Given the description of an element on the screen output the (x, y) to click on. 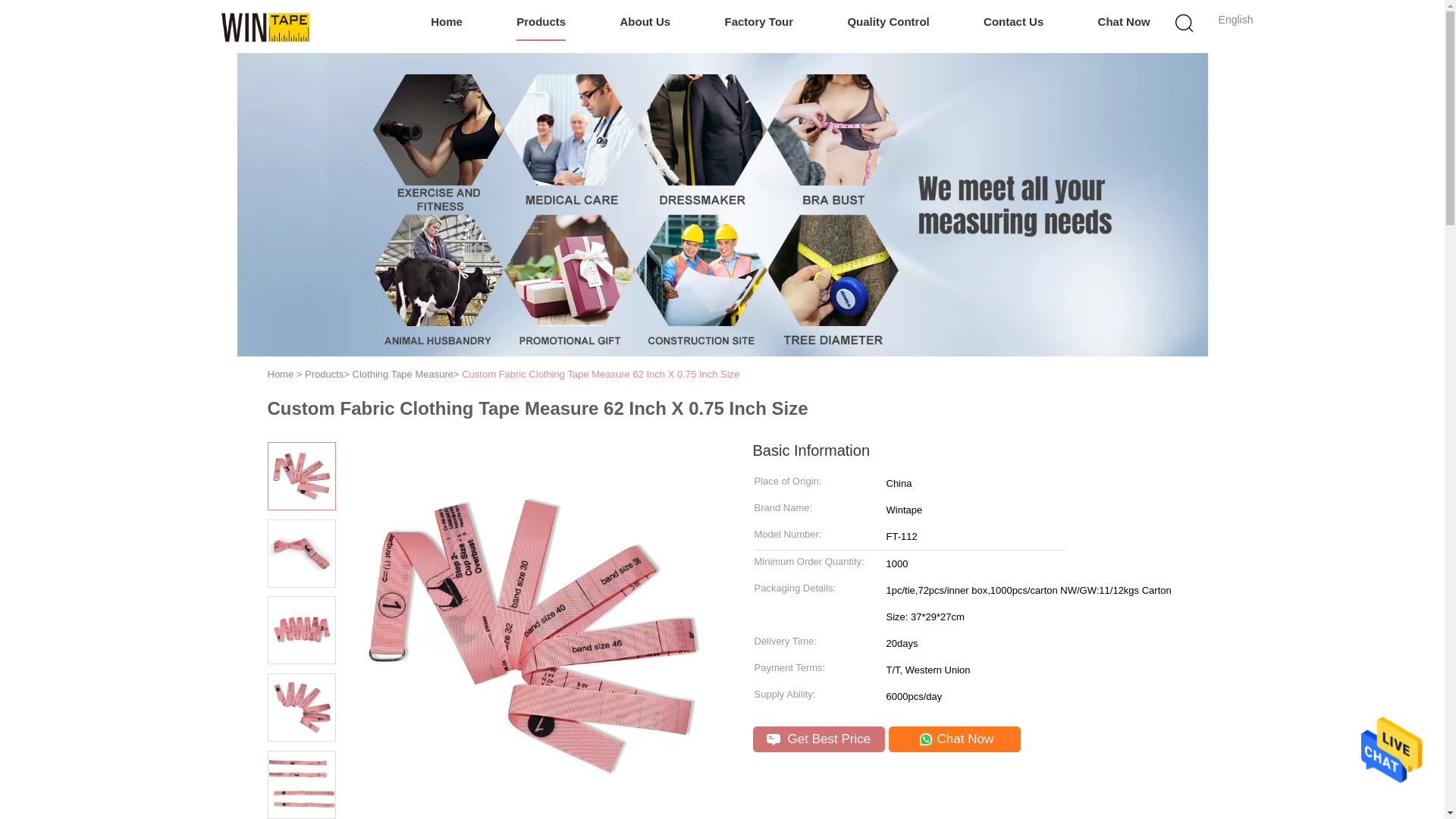
Factory Tour (759, 22)
About Us (645, 22)
Chat Now (1123, 22)
Search (1044, 100)
Products (541, 22)
Wintape Laser Tape Measure CO.,LTD (264, 25)
Quality Control (887, 22)
Contact Us (1013, 22)
